Given the description of an element on the screen output the (x, y) to click on. 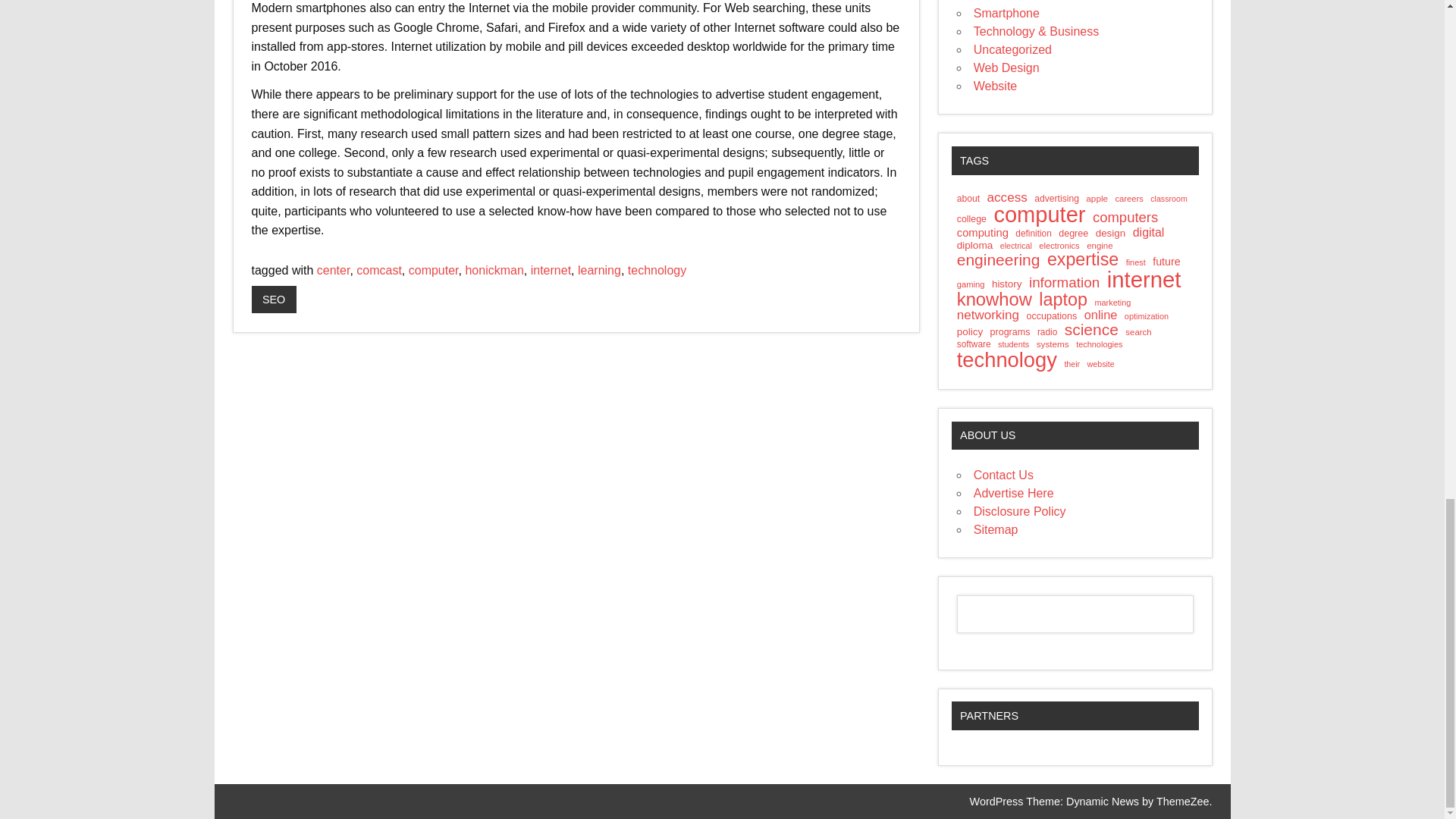
learning (599, 269)
comcast (378, 269)
honickman (493, 269)
center (333, 269)
technology (656, 269)
computer (433, 269)
SEO (274, 298)
internet (550, 269)
